Given the description of an element on the screen output the (x, y) to click on. 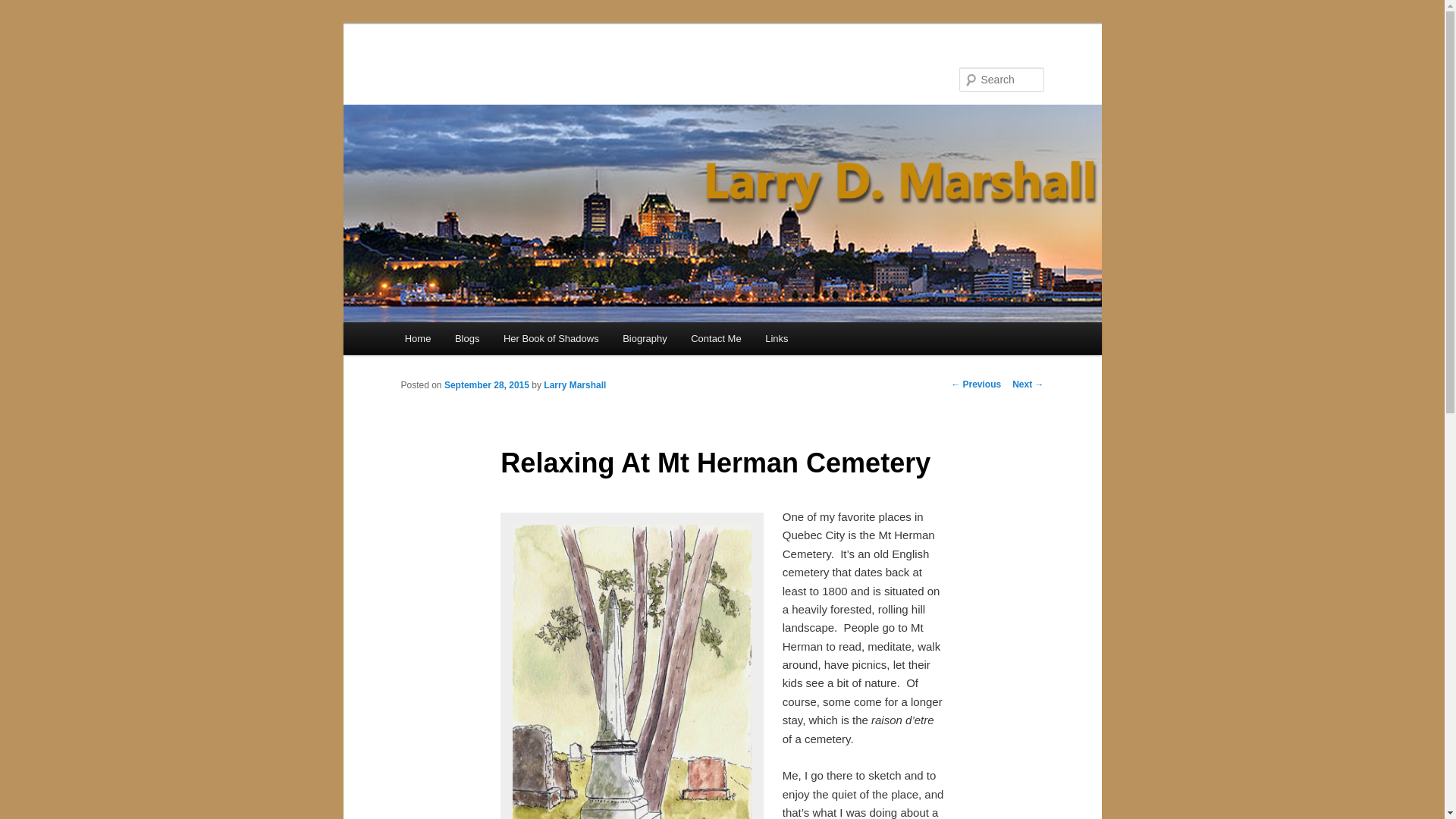
Home (417, 338)
Biography (644, 338)
Search (24, 8)
September 28, 2015 (486, 385)
Blogs (467, 338)
Contact Me (715, 338)
View all posts by Larry Marshall (574, 385)
Her Book of Shadows (551, 338)
3:22 pm (486, 385)
Larry Marshall (574, 385)
Links (775, 338)
